Given the description of an element on the screen output the (x, y) to click on. 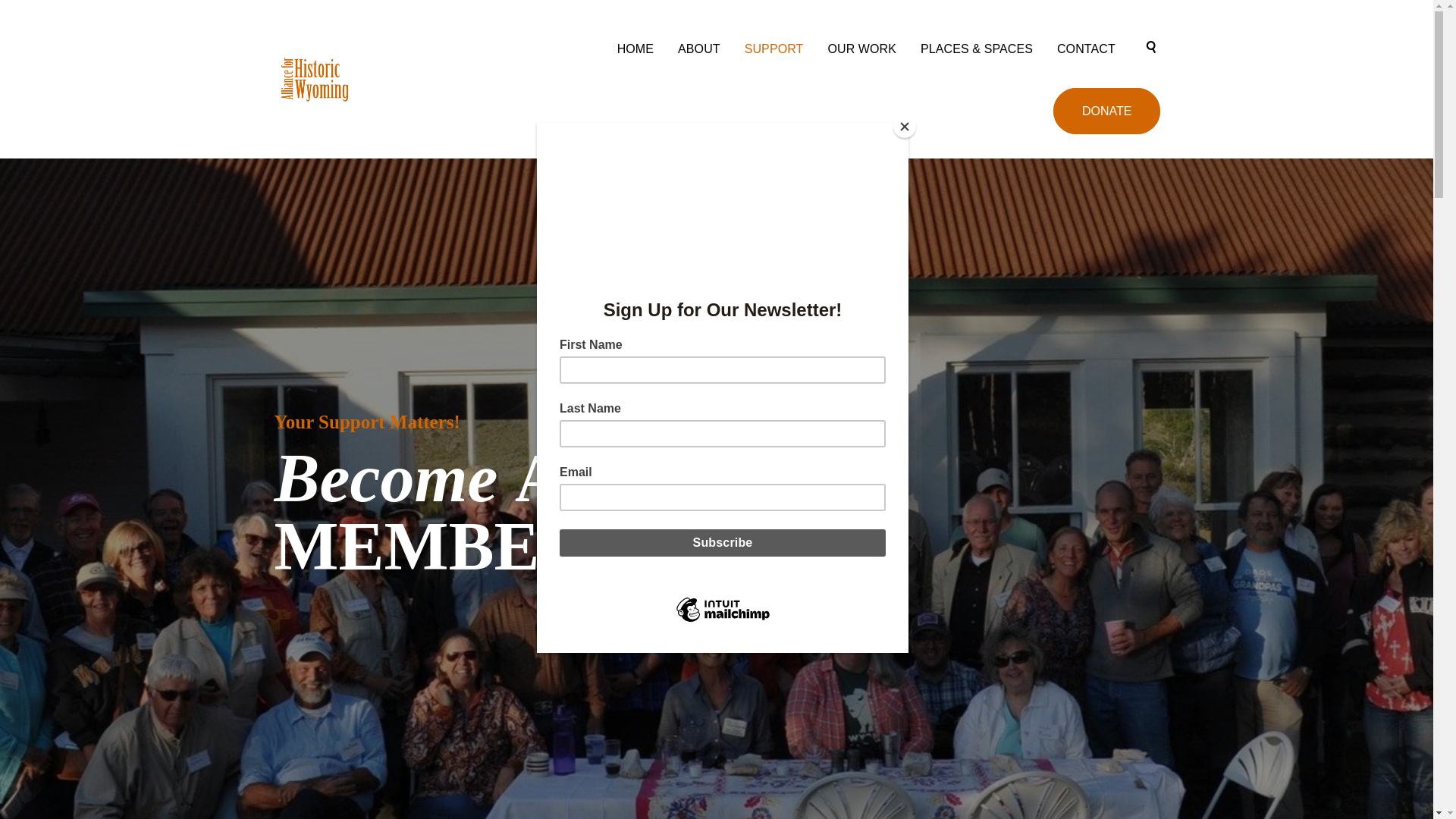
DONATE (1106, 111)
OUR WORK (861, 49)
ABOUT (698, 49)
SUPPORT (773, 49)
CONTACT (1085, 49)
HOME (635, 49)
